Given the description of an element on the screen output the (x, y) to click on. 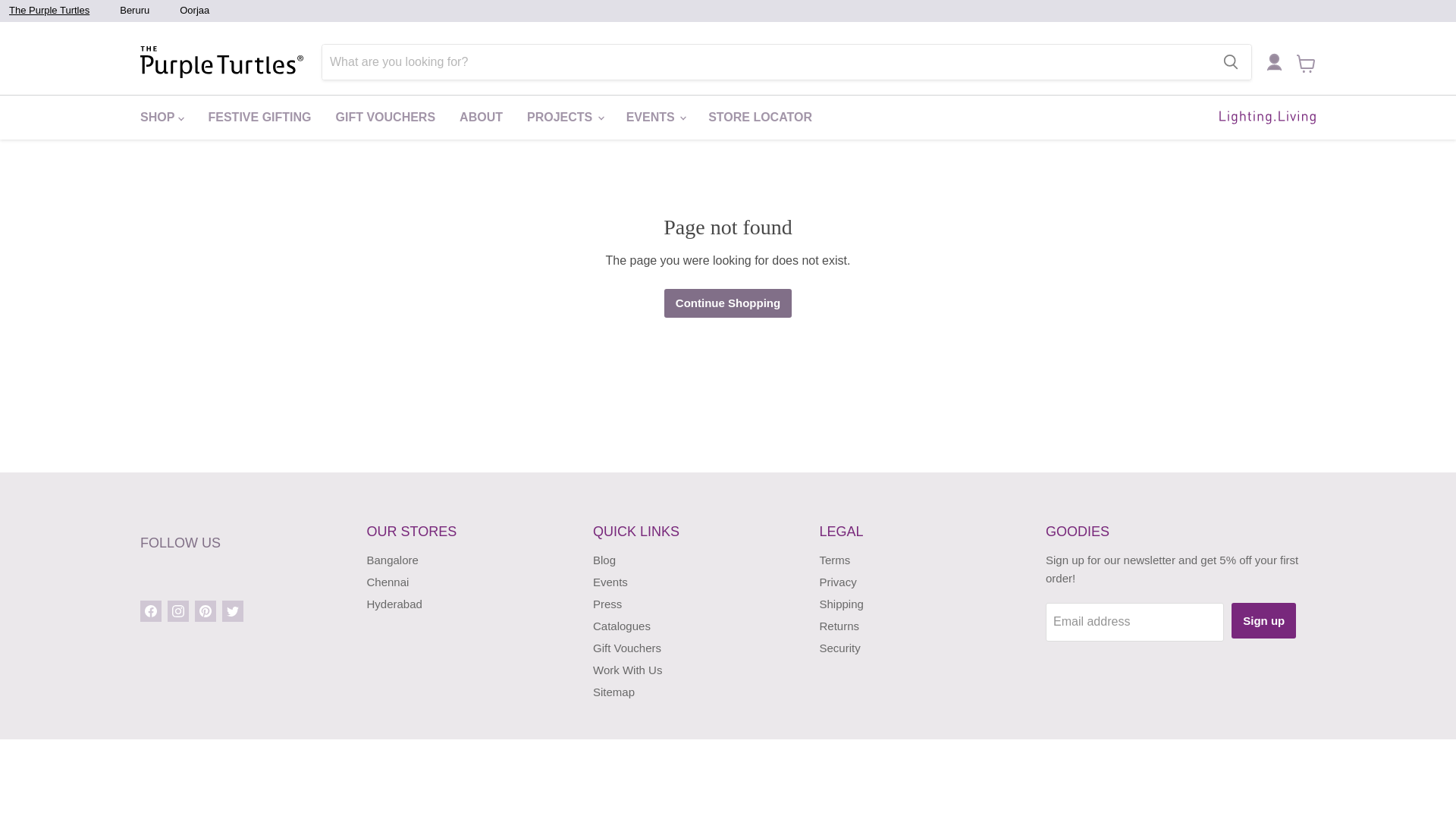
Oorjaa (193, 10)
Beruru (134, 10)
Twitter (232, 610)
View cart (1305, 65)
Facebook (150, 610)
Instagram (178, 610)
The Purple Turtles (49, 10)
Pinterest (205, 610)
